Given the description of an element on the screen output the (x, y) to click on. 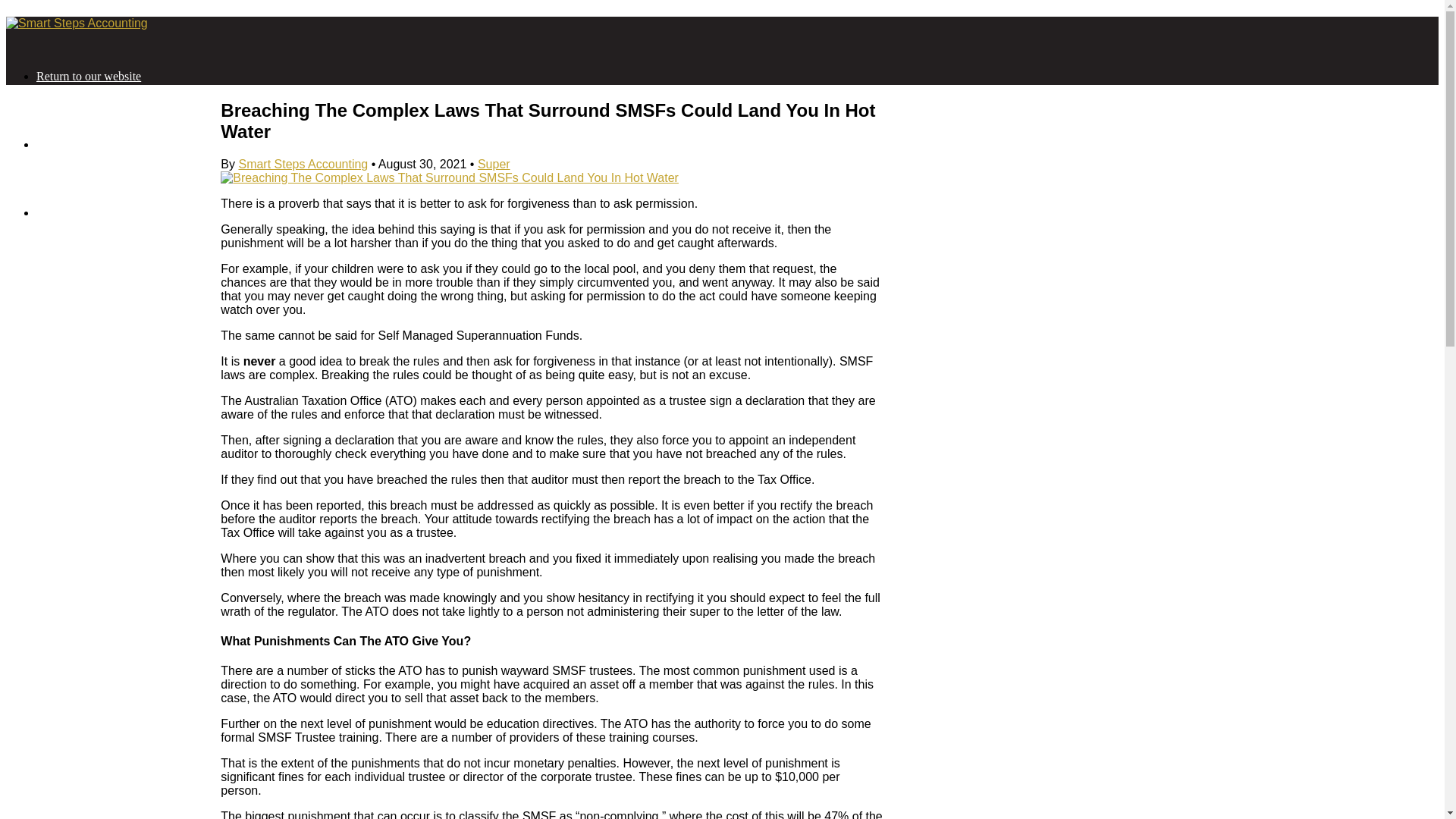
Business calendar (79, 144)
Posts by Smart Steps Accounting (303, 164)
Super (494, 164)
Smart Steps Accounting (303, 164)
Return to our website (88, 75)
Contact us (61, 212)
